Given the description of an element on the screen output the (x, y) to click on. 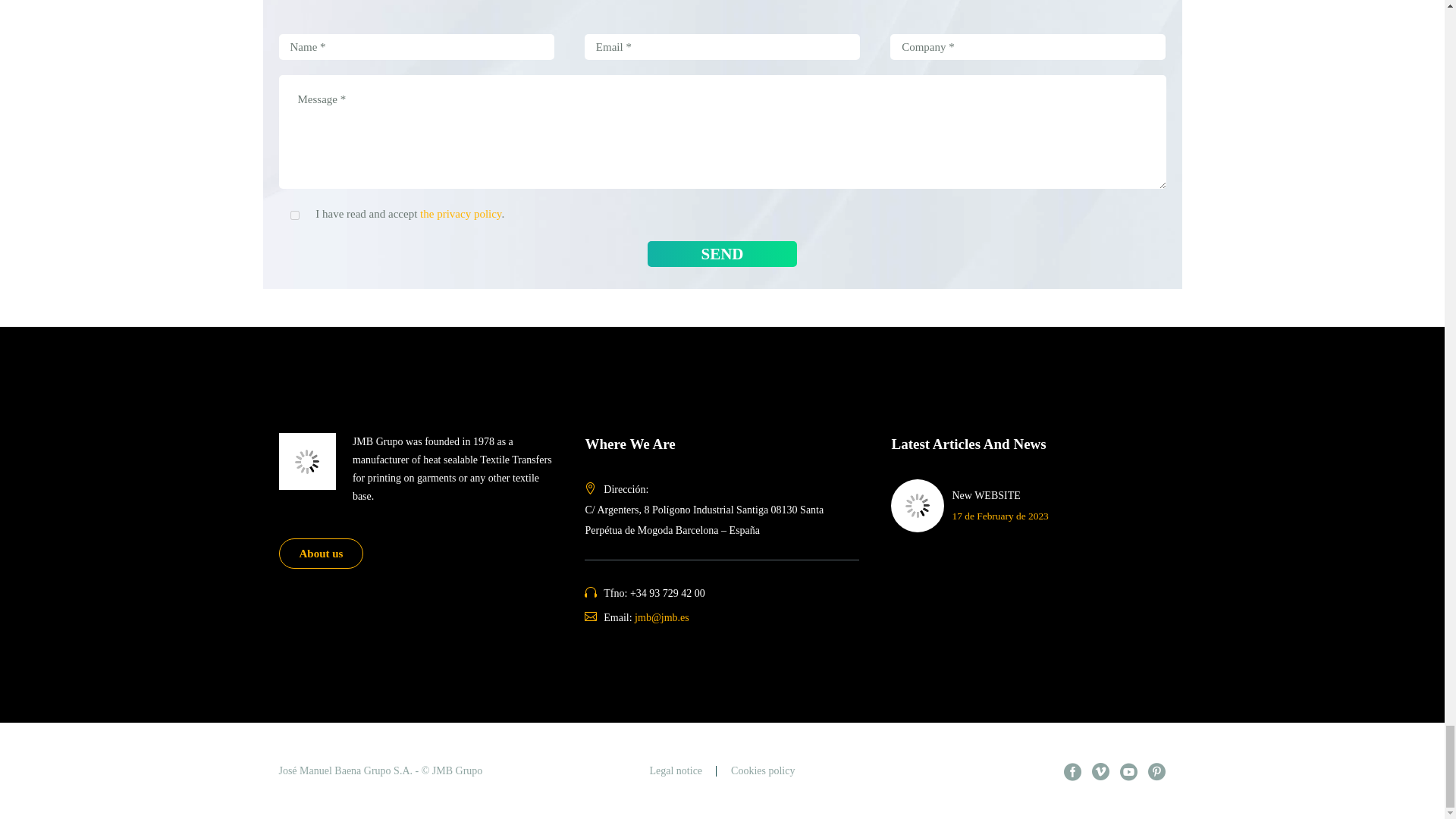
send (721, 253)
